Given the description of an element on the screen output the (x, y) to click on. 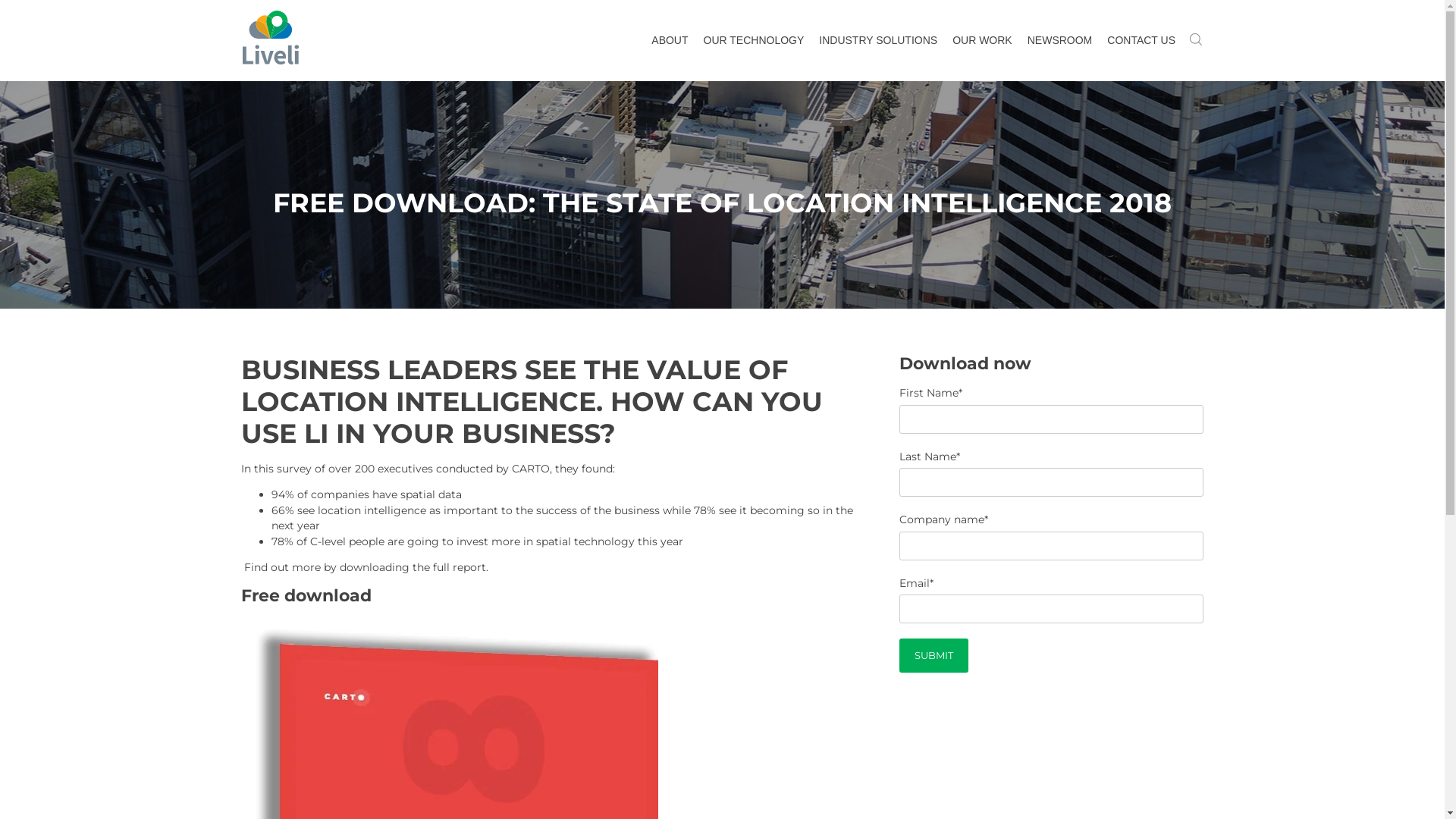
CONTACT US Element type: text (1141, 40)
OUR TECHNOLOGY Element type: text (754, 40)
Submit Element type: text (933, 655)
OUR WORK Element type: text (981, 40)
NEWSROOM Element type: text (1059, 40)
INDUSTRY SOLUTIONS Element type: text (877, 40)
ABOUT Element type: text (669, 40)
